Given the description of an element on the screen output the (x, y) to click on. 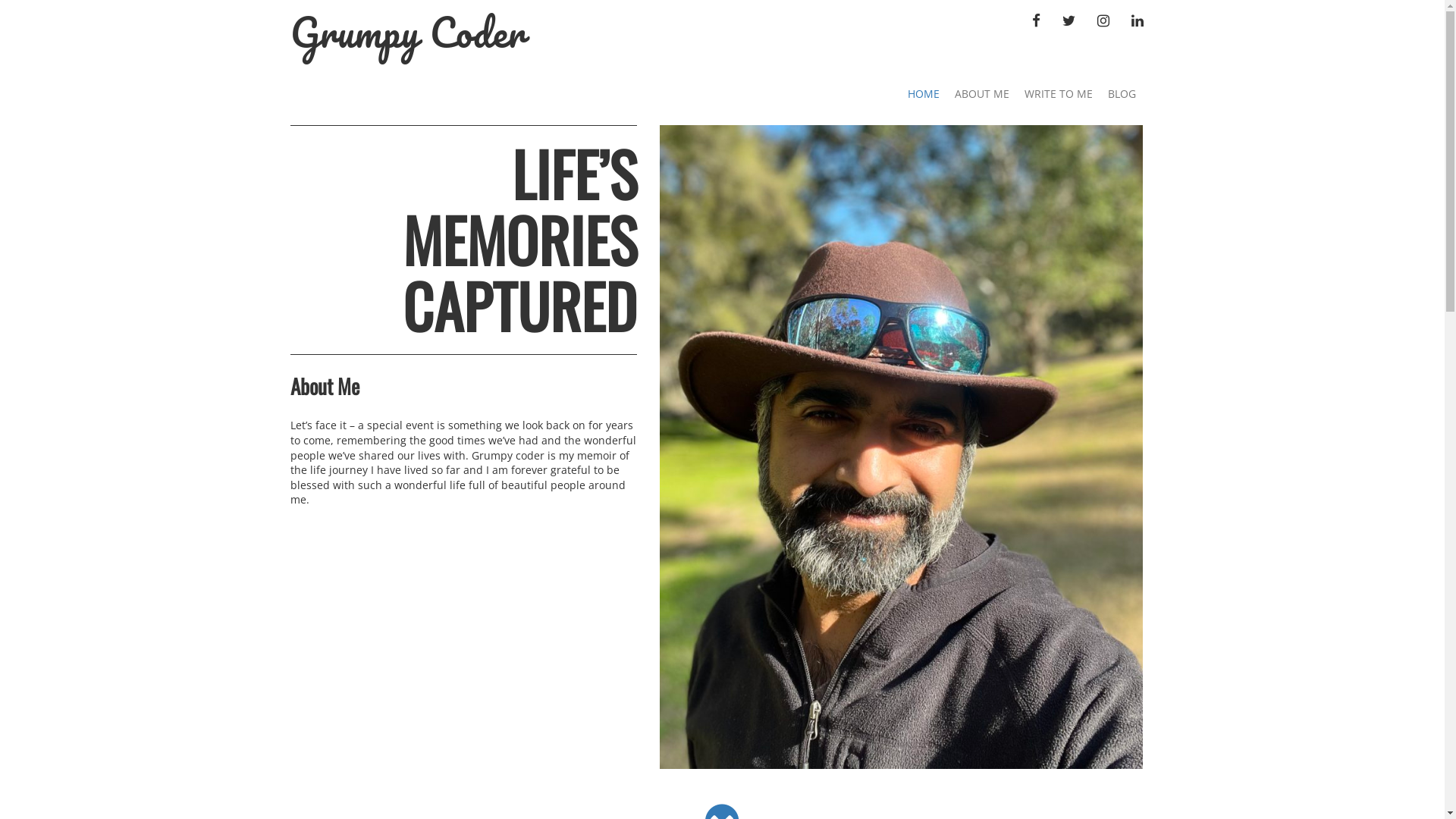
BLOG Element type: text (1120, 93)
LINKEDIN Element type: text (1136, 19)
FACEBOOK Element type: text (1036, 19)
TWITTER Element type: text (1068, 19)
INSTAGRAM Element type: text (1103, 19)
WRITE TO ME Element type: text (1057, 93)
ABOUT ME Element type: text (981, 93)
Grumpy Coder Element type: text (406, 32)
HOME Element type: text (922, 93)
